Given the description of an element on the screen output the (x, y) to click on. 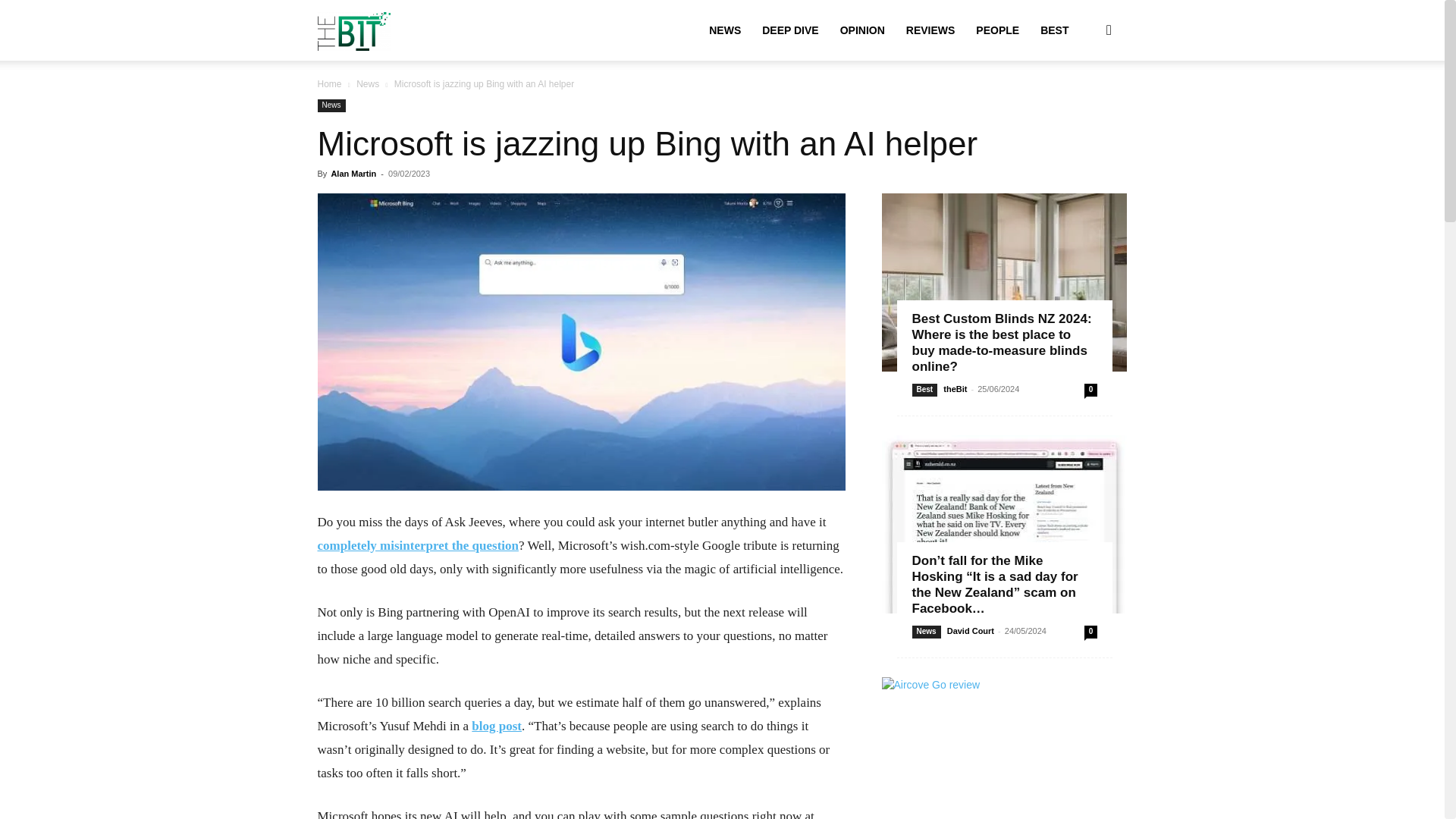
OPINION (862, 30)
DEEP DIVE (789, 30)
News (367, 83)
REVIEWS (930, 30)
View all posts in News (367, 83)
theBit.nz (353, 30)
News (331, 105)
Home (328, 83)
completely misinterpret the question (417, 545)
Search (1085, 102)
PEOPLE (997, 30)
Alan Martin (352, 173)
blog post (496, 726)
